Given the description of an element on the screen output the (x, y) to click on. 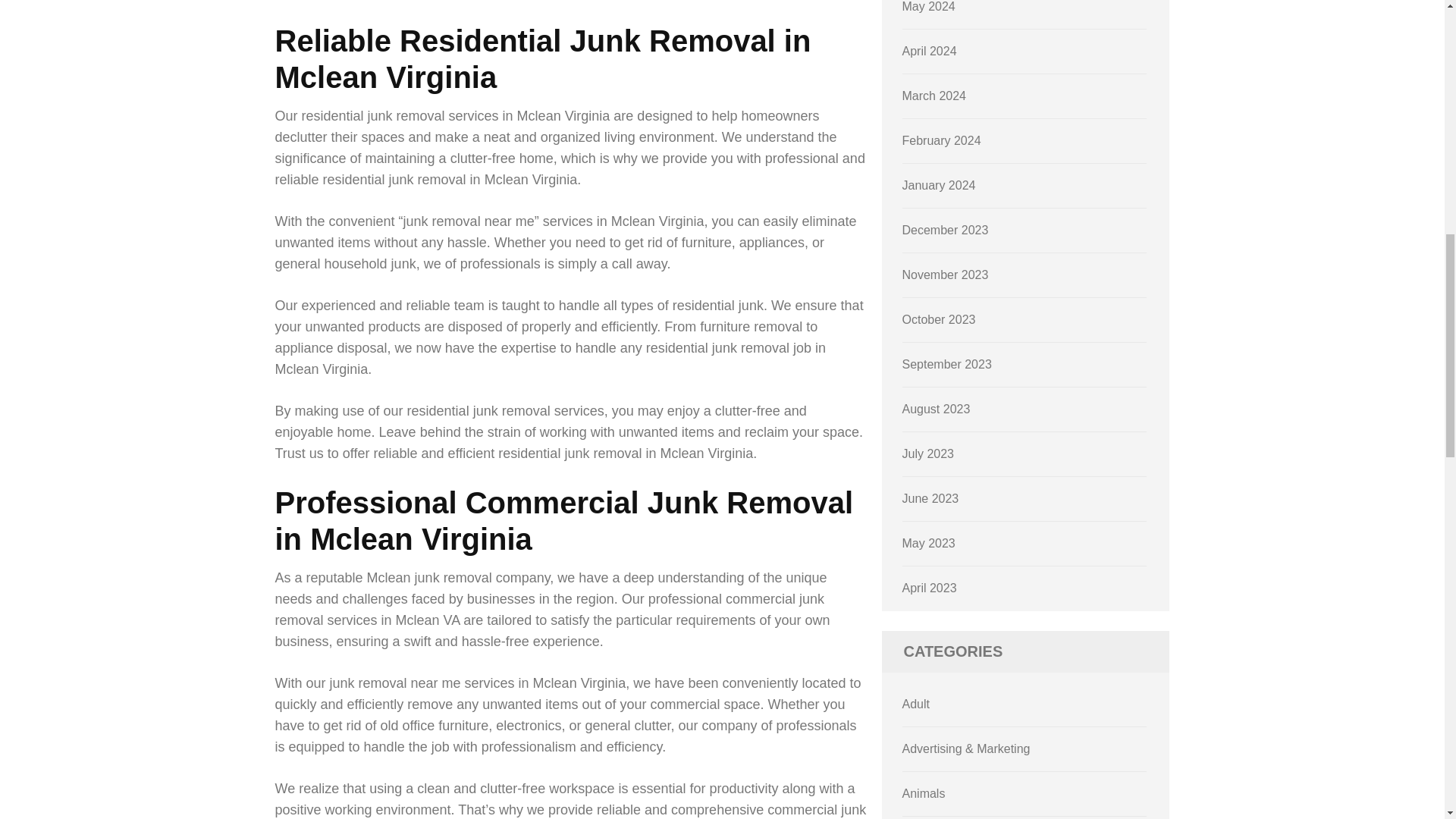
October 2023 (938, 318)
July 2023 (928, 453)
February 2024 (941, 140)
May 2024 (928, 6)
Adult (916, 703)
May 2023 (928, 543)
March 2024 (934, 95)
April 2023 (929, 587)
November 2023 (945, 274)
April 2024 (929, 51)
December 2023 (945, 229)
January 2024 (938, 185)
September 2023 (946, 364)
August 2023 (936, 408)
June 2023 (930, 498)
